Given the description of an element on the screen output the (x, y) to click on. 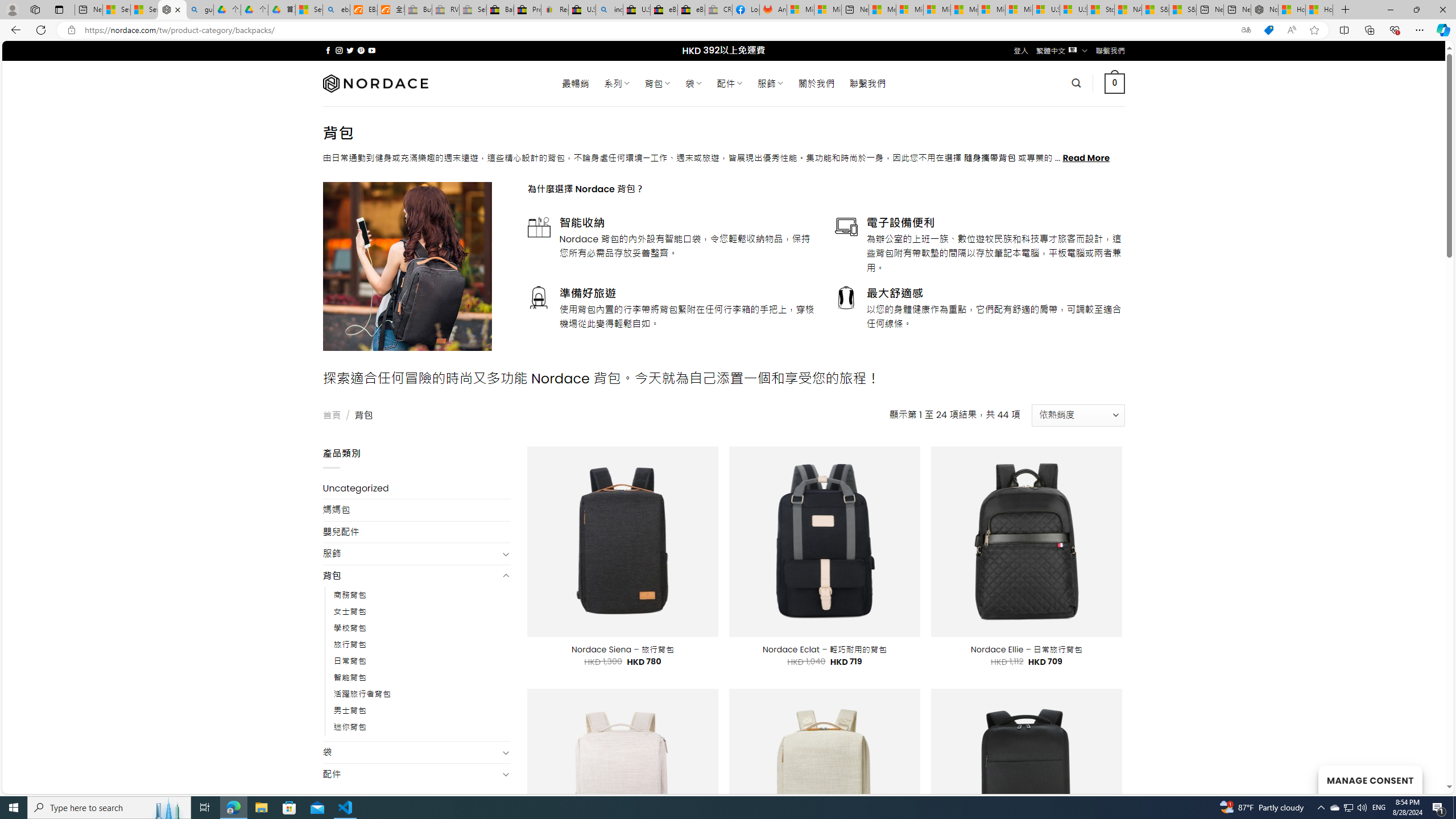
Follow on YouTube (371, 50)
